Given the description of an element on the screen output the (x, y) to click on. 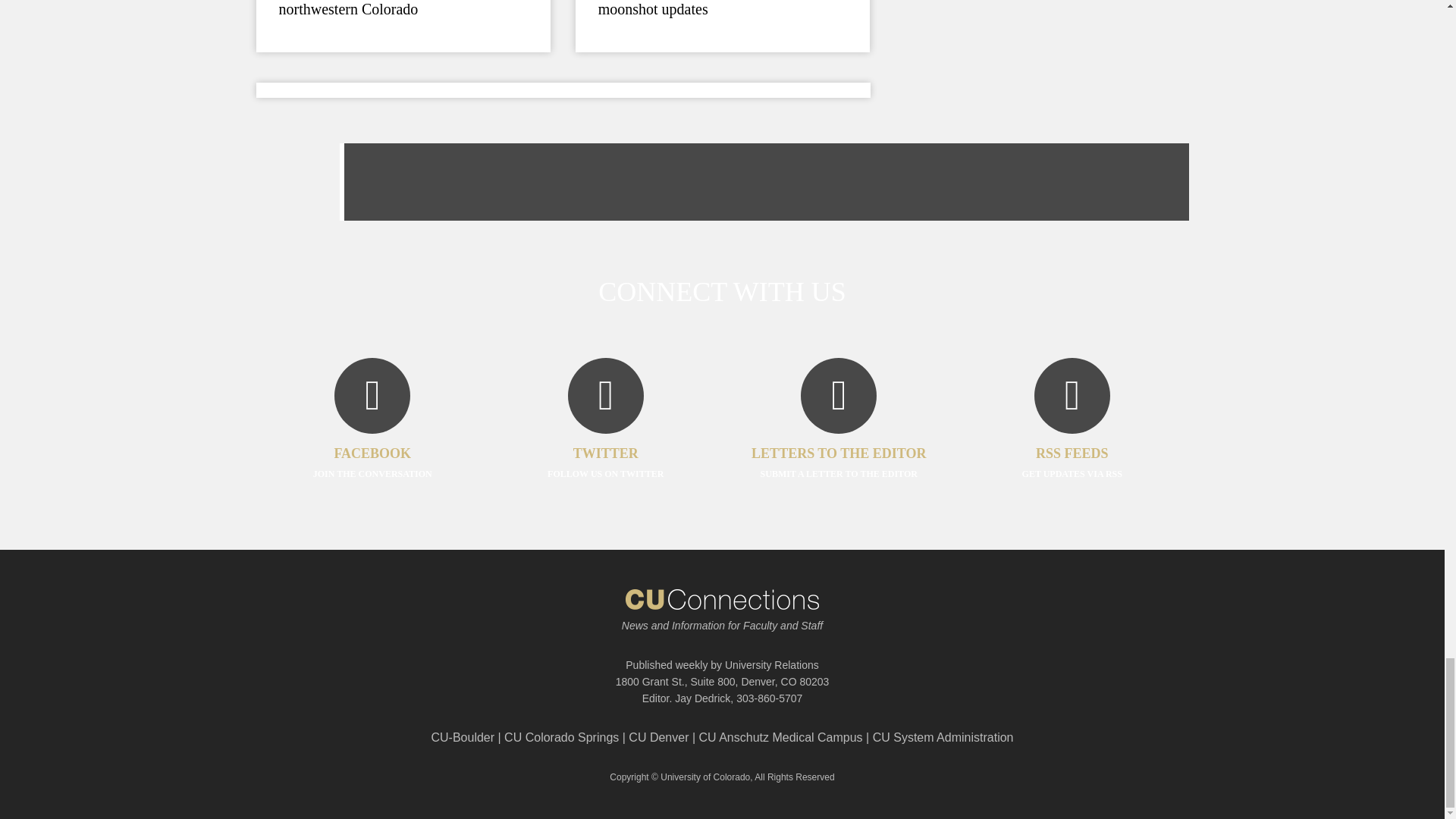
Follow us on Twitter (605, 440)
Submit a Letter to the Editor (838, 440)
Get Updates Via RSS (1072, 440)
Join the Conversation (372, 440)
